Given the description of an element on the screen output the (x, y) to click on. 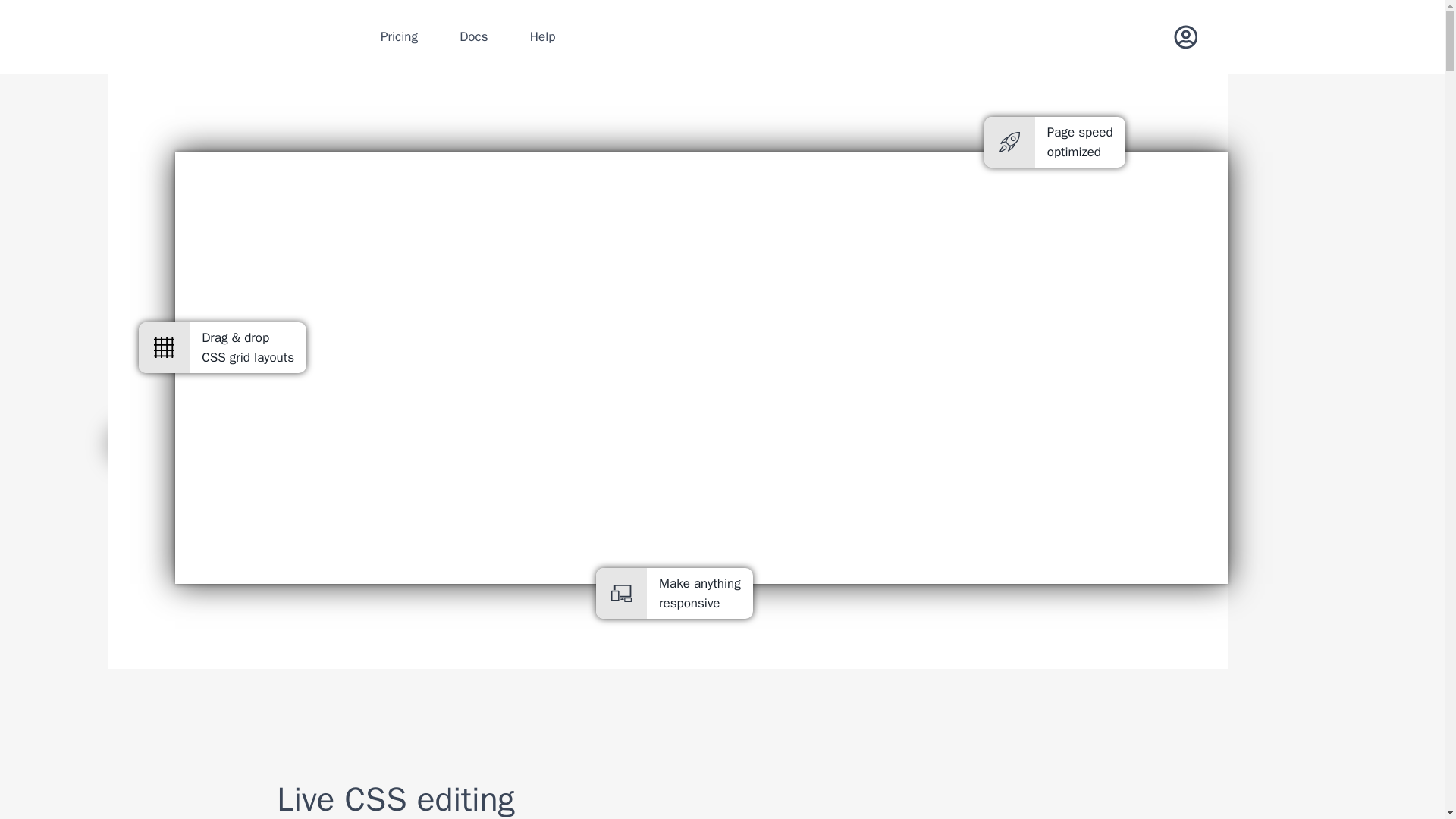
Buy now (148, 444)
Pricing (398, 36)
Docs (474, 36)
Help (542, 36)
Themeover - frontend WordPress design (298, 36)
Microthemer docs (474, 36)
Frequently Asked Questions (542, 36)
Live demo (259, 444)
